Given the description of an element on the screen output the (x, y) to click on. 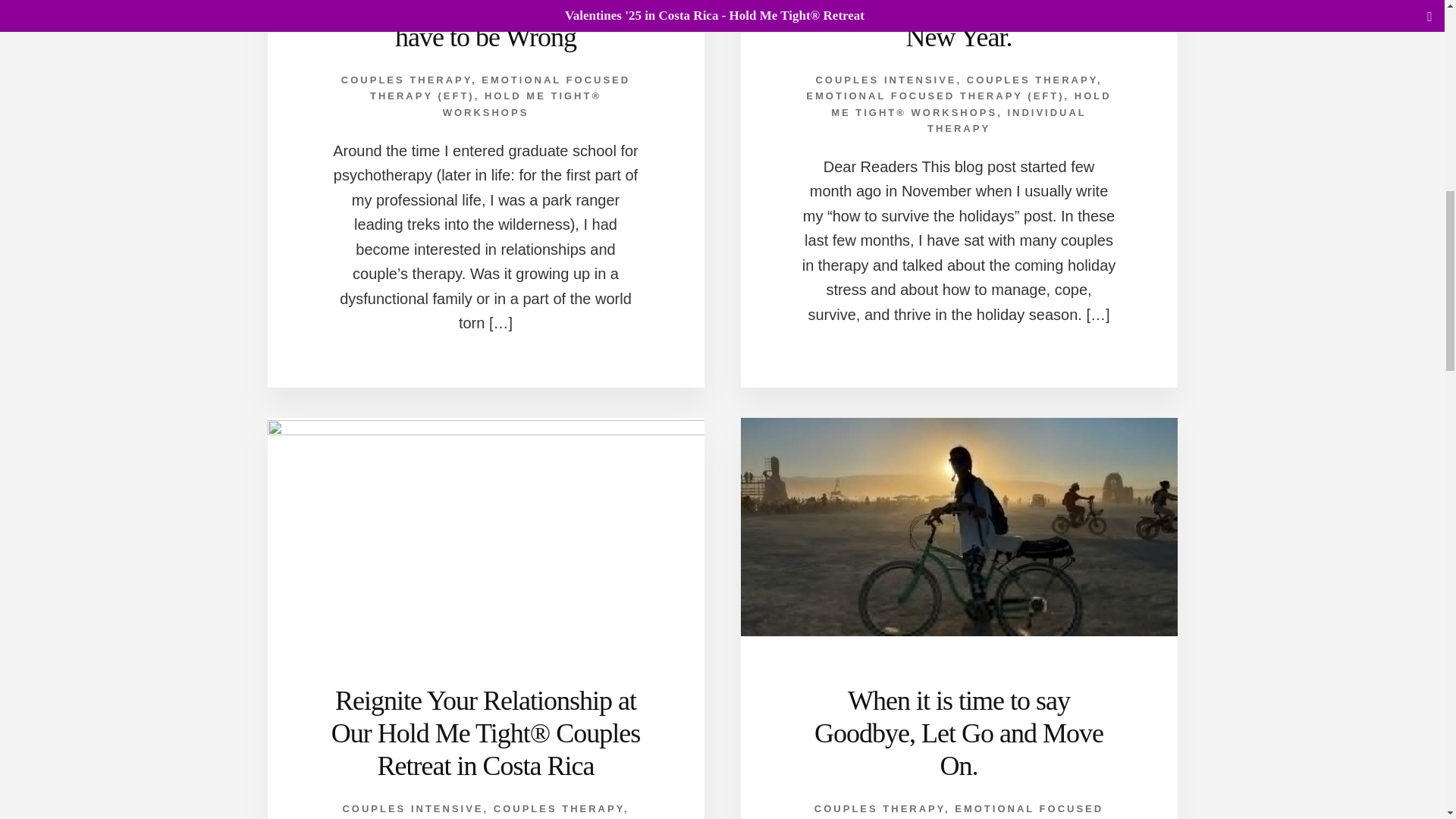
INDIVIDUAL THERAPY (1006, 120)
COUPLES THERAPY (1031, 79)
COUPLES INTENSIVE (412, 808)
When it is time to say Goodbye, Let Go and Move On. (958, 733)
COUPLES THERAPY (405, 79)
COUPLES INTENSIVE (885, 79)
COUPLES THERAPY (878, 808)
Keeping Resolutions in the New Year. (959, 26)
COUPLES THERAPY (558, 808)
